Given the description of an element on the screen output the (x, y) to click on. 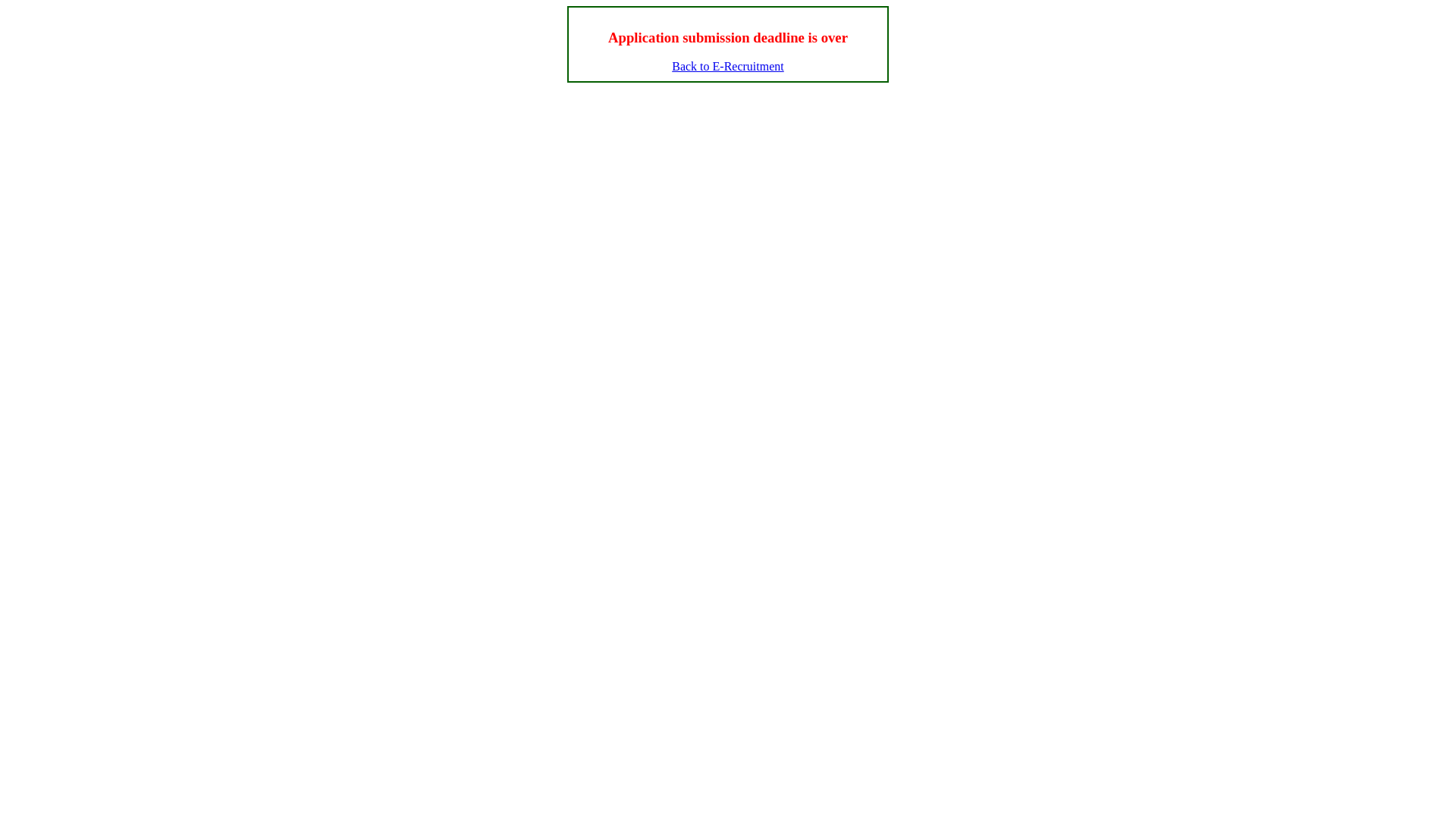
Back to E-Recruitment Element type: text (727, 65)
